Given the description of an element on the screen output the (x, y) to click on. 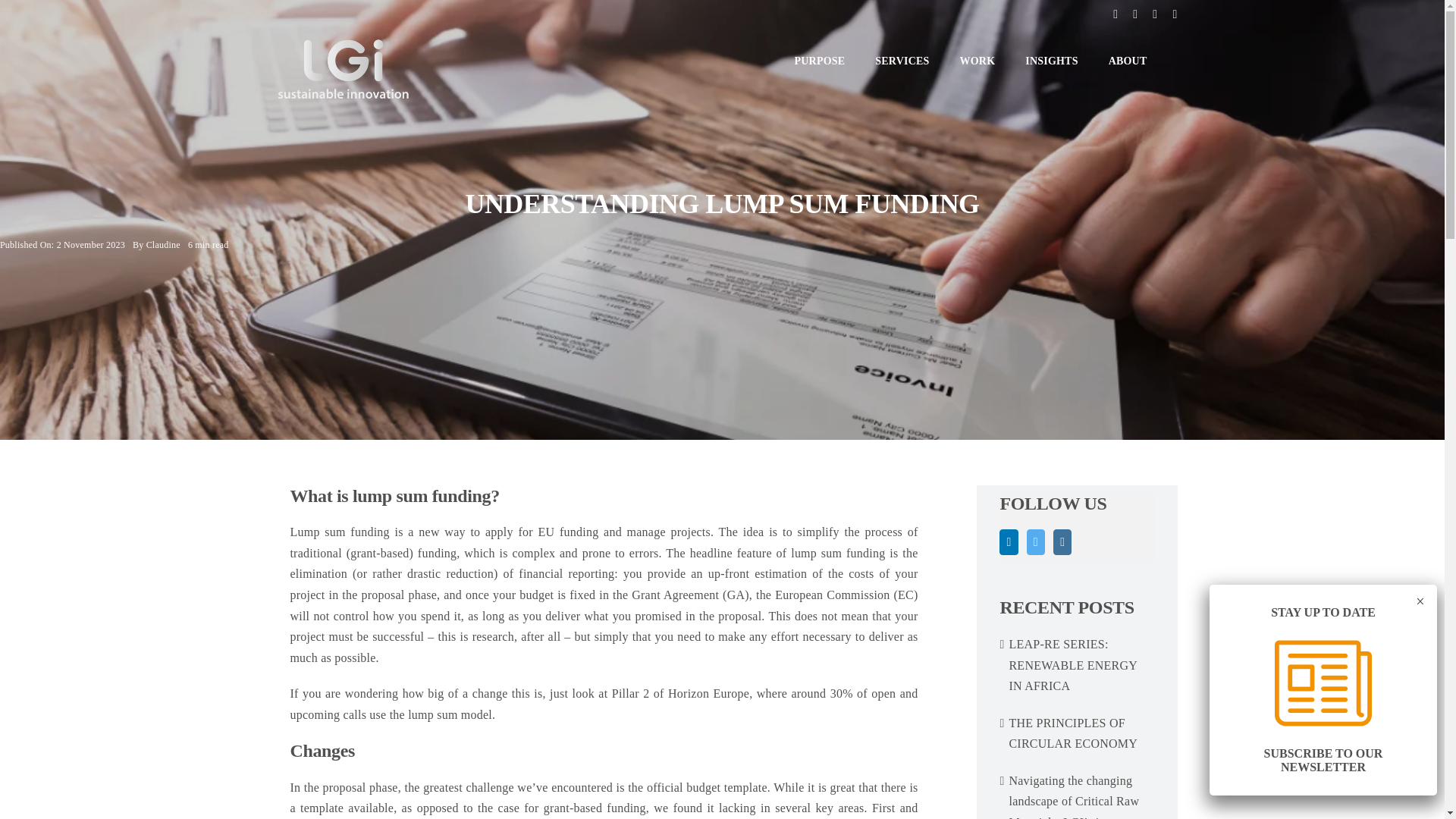
LinkedIn (1115, 14)
Email (1174, 14)
LinkedIn (1115, 14)
SERVICES (901, 61)
Instagram (1155, 14)
Twitter (1035, 542)
Email (1174, 14)
Twitter (1134, 14)
WORK (977, 61)
Twitter (1134, 14)
ABOUT (1127, 61)
Instagram (1155, 14)
Posts by Claudine (163, 244)
LinkedIn (1007, 542)
PURPOSE (819, 61)
